Given the description of an element on the screen output the (x, y) to click on. 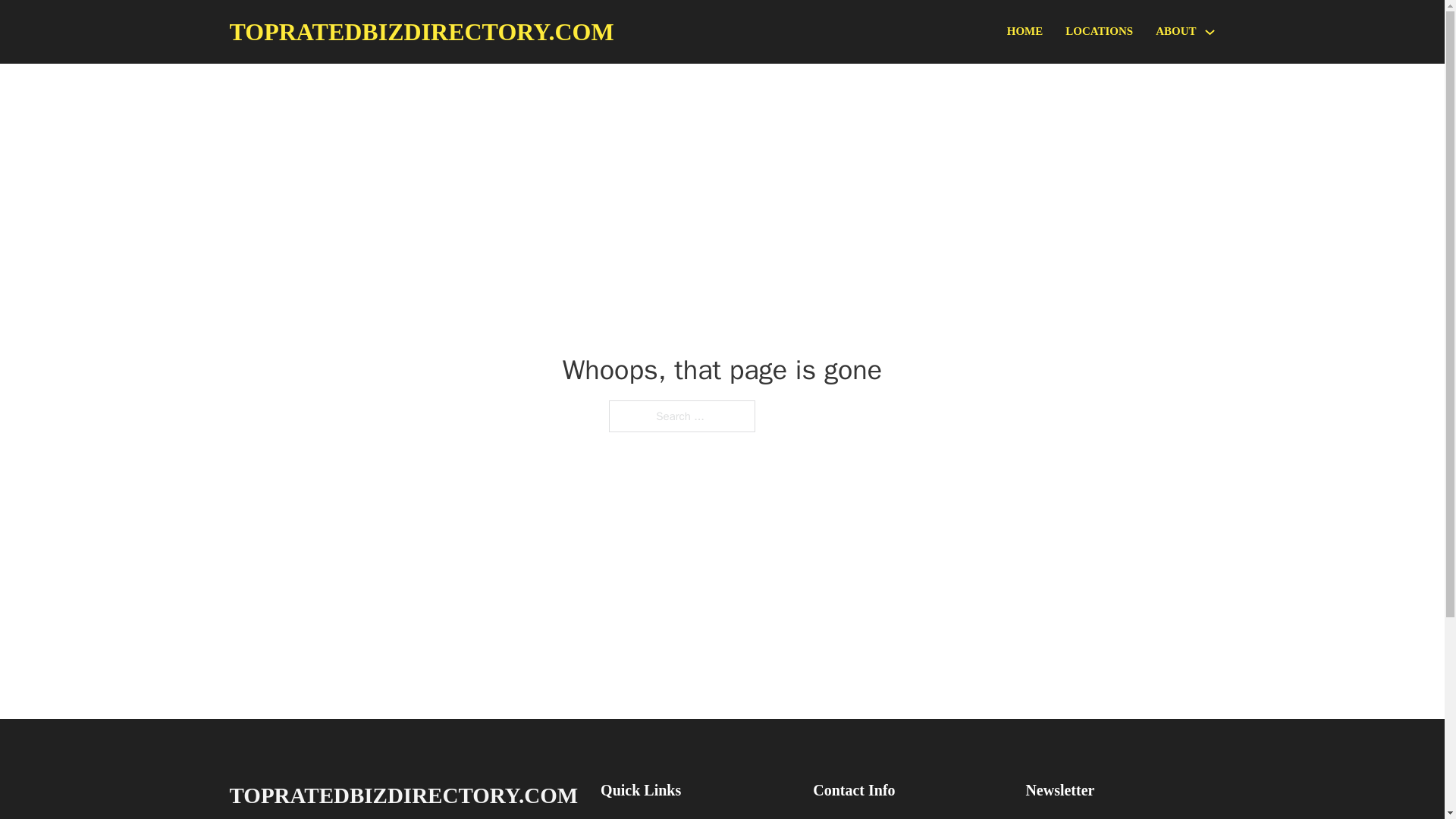
LOCATIONS (1098, 31)
HOME (1025, 31)
TOPRATEDBIZDIRECTORY.COM (403, 795)
TOPRATEDBIZDIRECTORY.COM (420, 31)
